Given the description of an element on the screen output the (x, y) to click on. 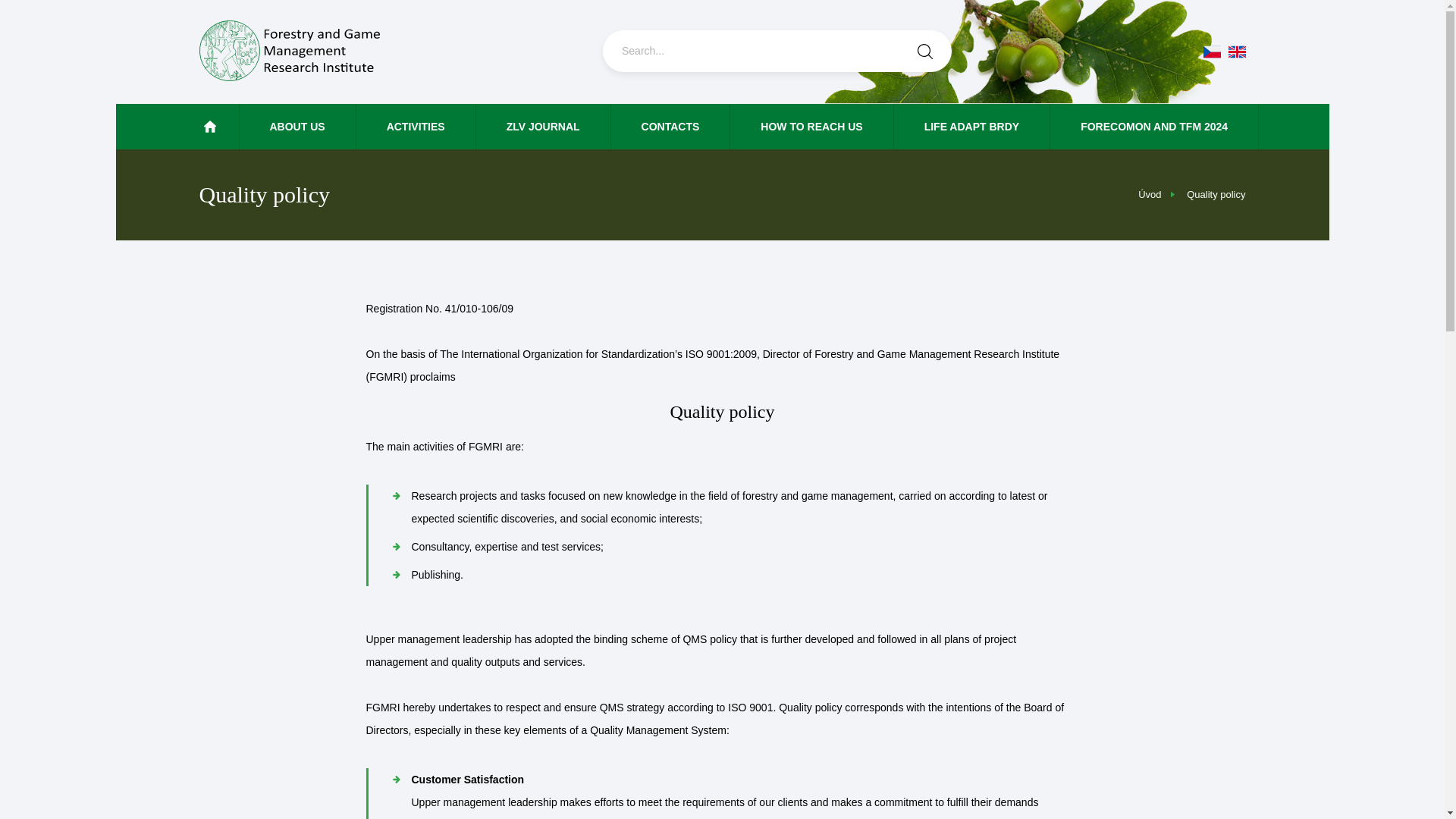
HOME (176, 126)
ACTIVITIES (416, 126)
HOW TO REACH US (811, 126)
FORECOMON AND TFM 2024 (1154, 126)
ABOUT US (298, 126)
ZLV JOURNAL (543, 126)
CONTACTS (670, 126)
LIFE ADAPT BRDY (971, 126)
cs (1211, 51)
en (1237, 51)
